Given the description of an element on the screen output the (x, y) to click on. 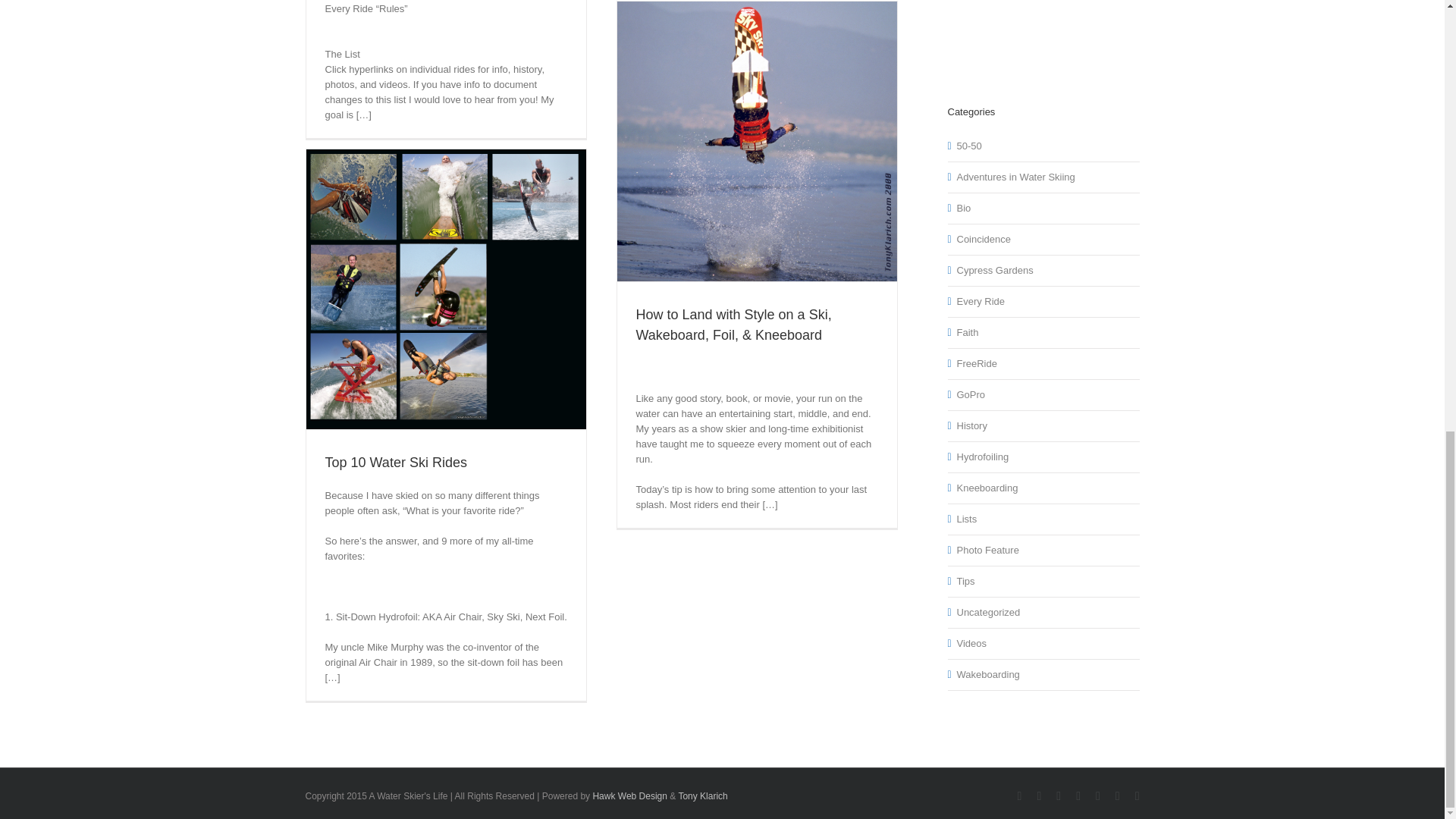
Facebook (1019, 796)
Youtube (1077, 796)
Twitter (1059, 796)
Instagram (1098, 796)
Flickr (1038, 796)
Tumblr (1137, 796)
Pinterest (1117, 796)
